Given the description of an element on the screen output the (x, y) to click on. 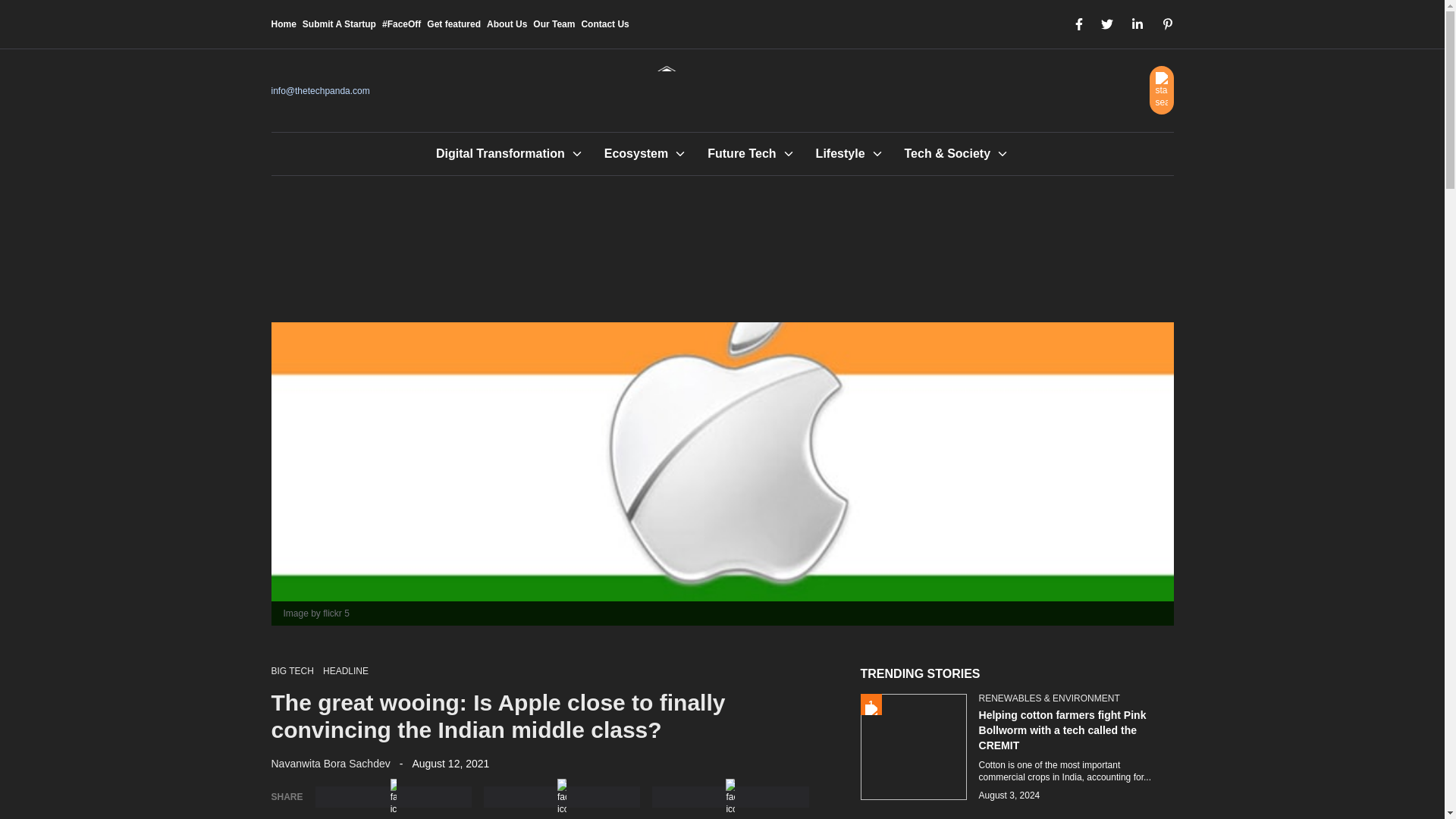
Ecosystem (636, 153)
Lifestyle (839, 153)
Contact Us (604, 24)
About Us (506, 24)
Submit A Startup (338, 24)
Our Team (553, 24)
Digital Transformation (499, 153)
Future Tech (741, 153)
Home (283, 24)
Get featured (453, 24)
